Given the description of an element on the screen output the (x, y) to click on. 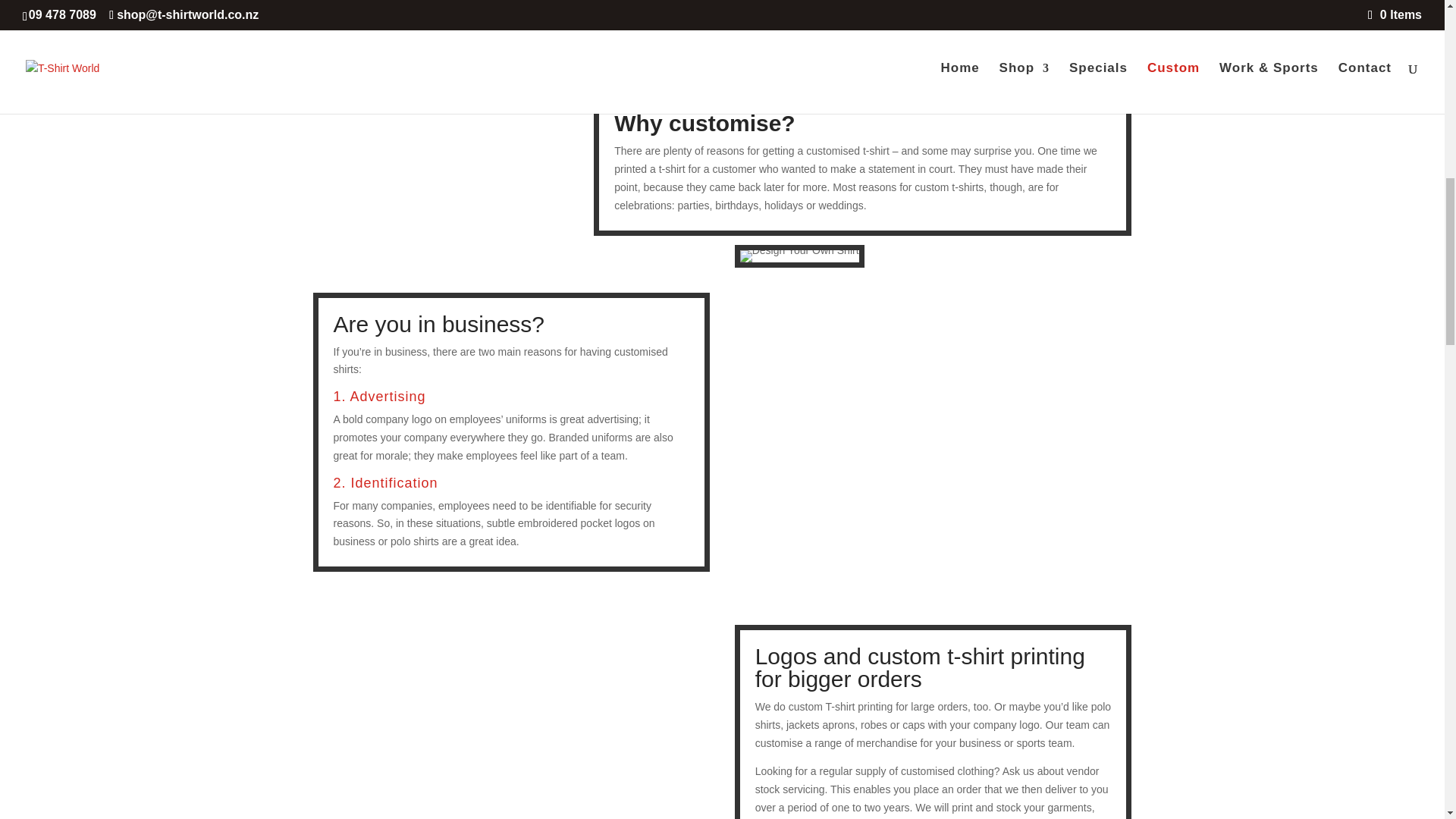
T-Shirt Design (357, 58)
Design Your Own Shirt (799, 256)
